Given the description of an element on the screen output the (x, y) to click on. 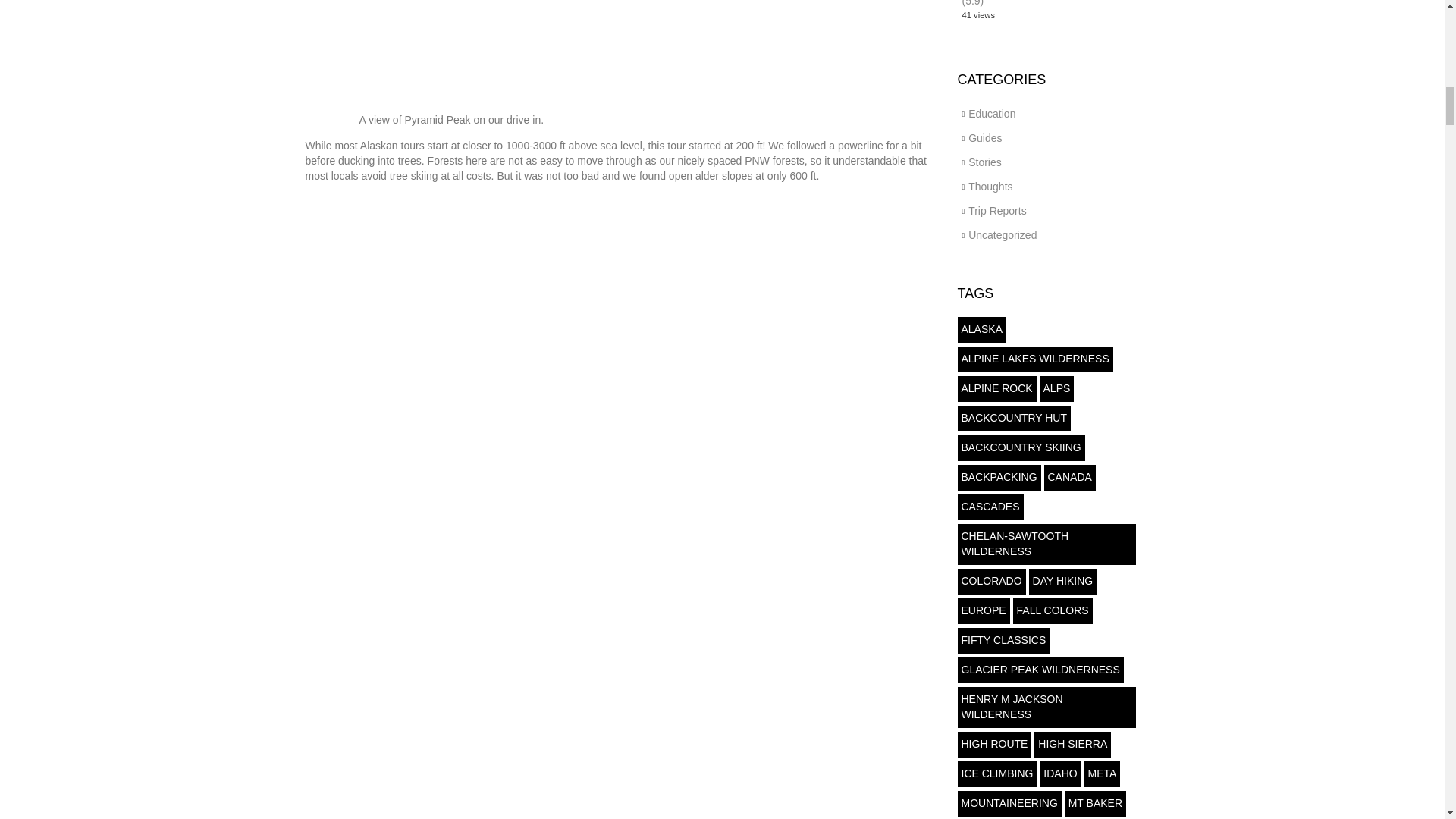
Education (991, 113)
ALASKA (981, 329)
Thoughts (989, 186)
Trip Reports (997, 210)
Guides (984, 137)
Stories (984, 162)
Uncategorized (1002, 234)
